Given the description of an element on the screen output the (x, y) to click on. 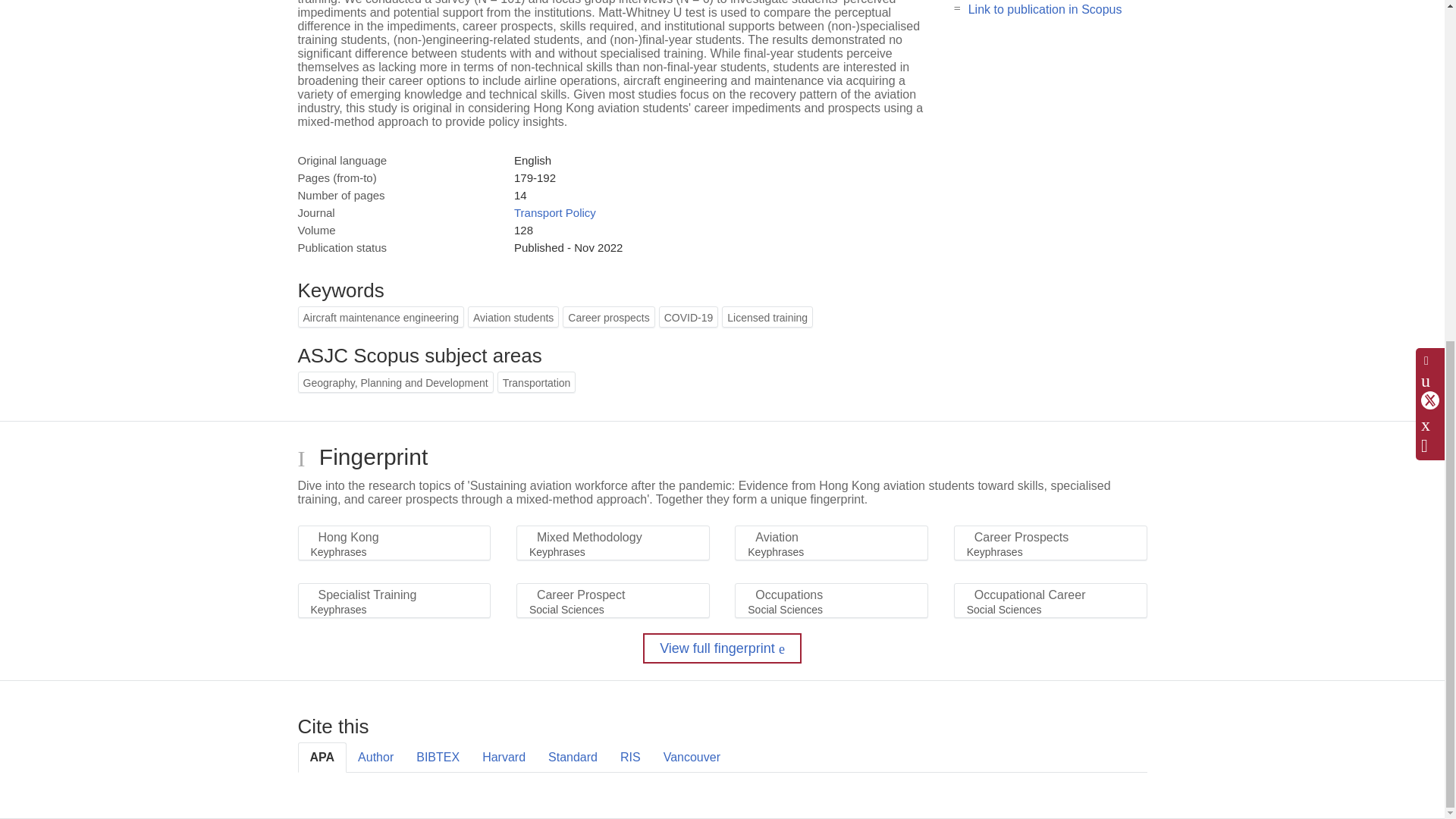
Link to publication in Scopus (1045, 9)
View full fingerprint (722, 648)
Transport Policy (554, 212)
